Given the description of an element on the screen output the (x, y) to click on. 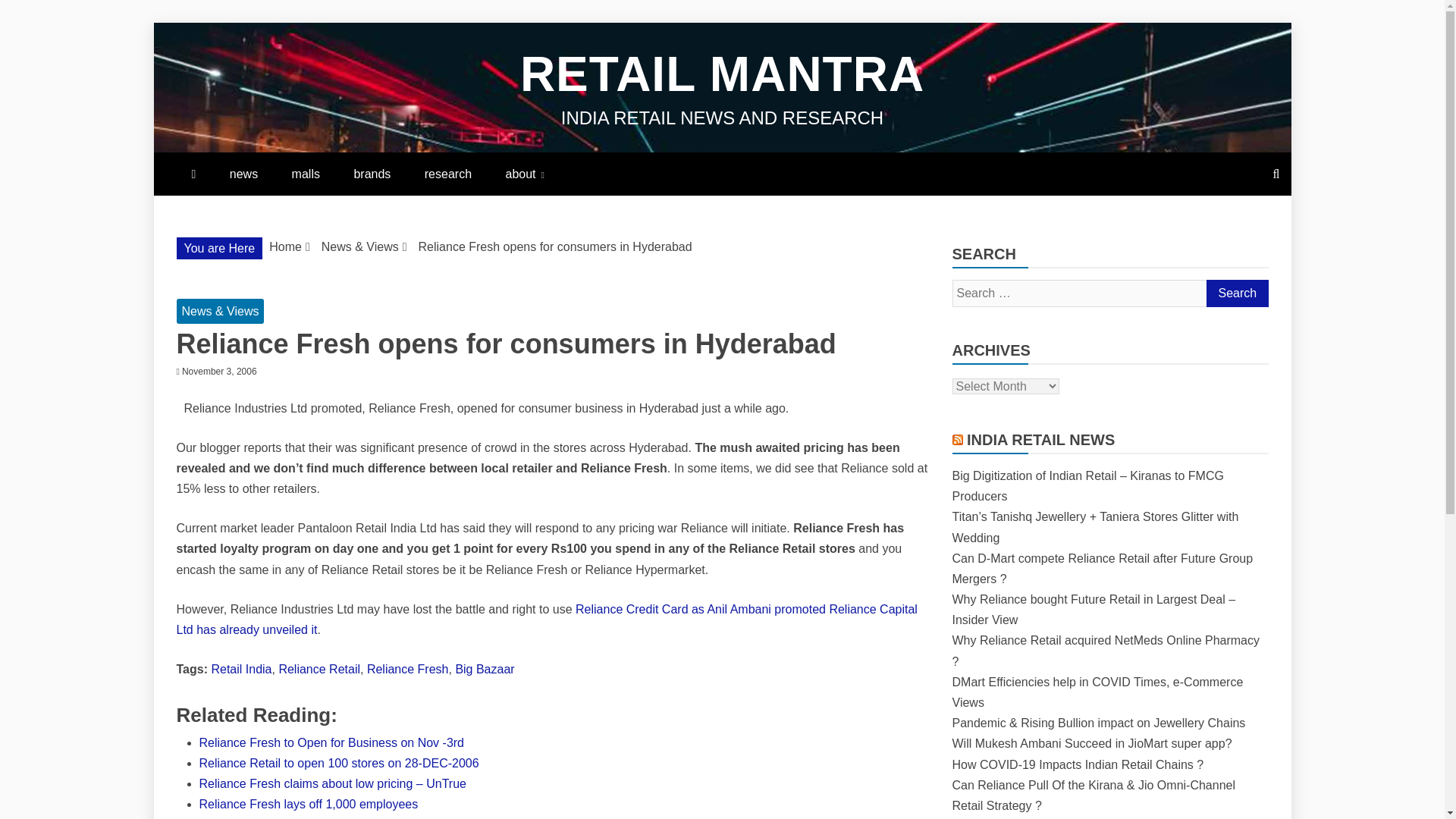
brands (371, 173)
Reliance Retail (318, 668)
news (243, 173)
Reliance Fresh (407, 668)
November 3, 2006 (219, 371)
malls (305, 173)
about (524, 173)
Reliance Fresh to Open for Business on Nov -3rd (331, 742)
Home (285, 246)
